Given the description of an element on the screen output the (x, y) to click on. 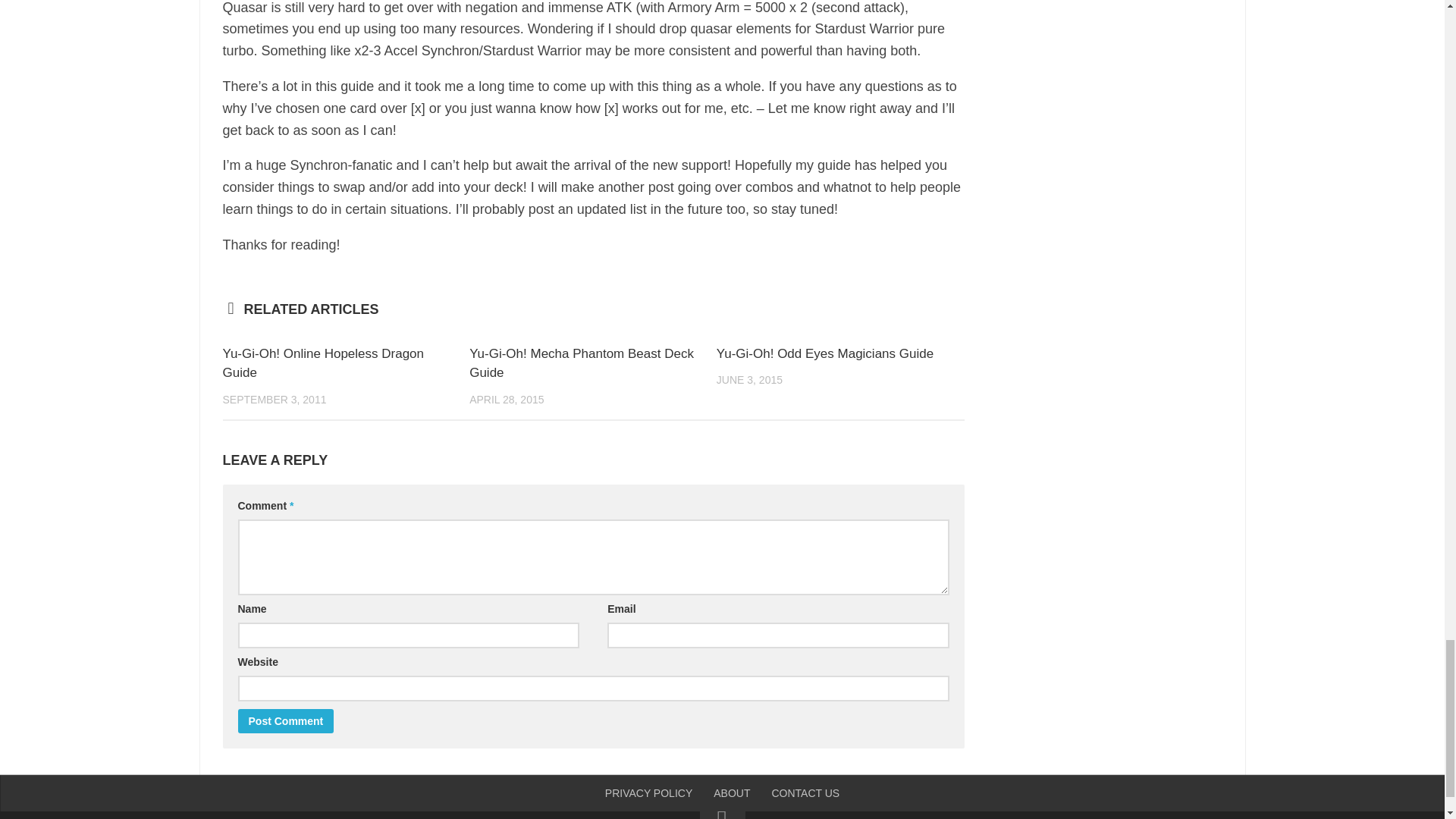
Post Comment (286, 721)
CONTACT US (805, 792)
Yu-Gi-Oh! Mecha Phantom Beast Deck Guide (581, 363)
Post Comment (286, 721)
PRIVACY POLICY (648, 792)
Yu-Gi-Oh! Odd Eyes Magicians Guide (824, 353)
ABOUT (731, 792)
Yu-Gi-Oh! Online Hopeless Dragon Guide (323, 363)
